Given the description of an element on the screen output the (x, y) to click on. 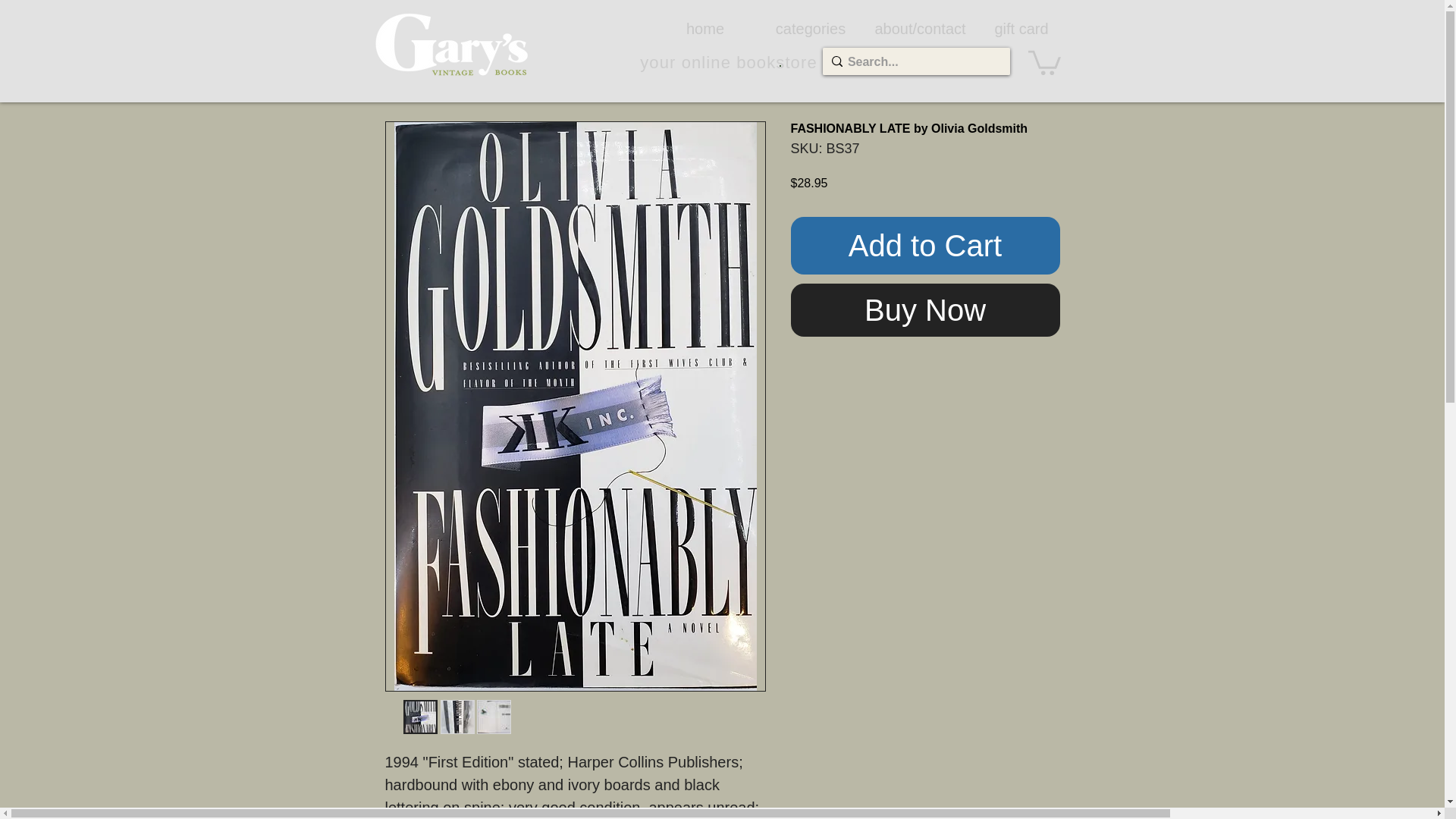
categories (810, 28)
gift card (1021, 28)
Buy Now (924, 309)
your online bookstore (728, 62)
Add to Cart (924, 245)
home (704, 28)
